Given the description of an element on the screen output the (x, y) to click on. 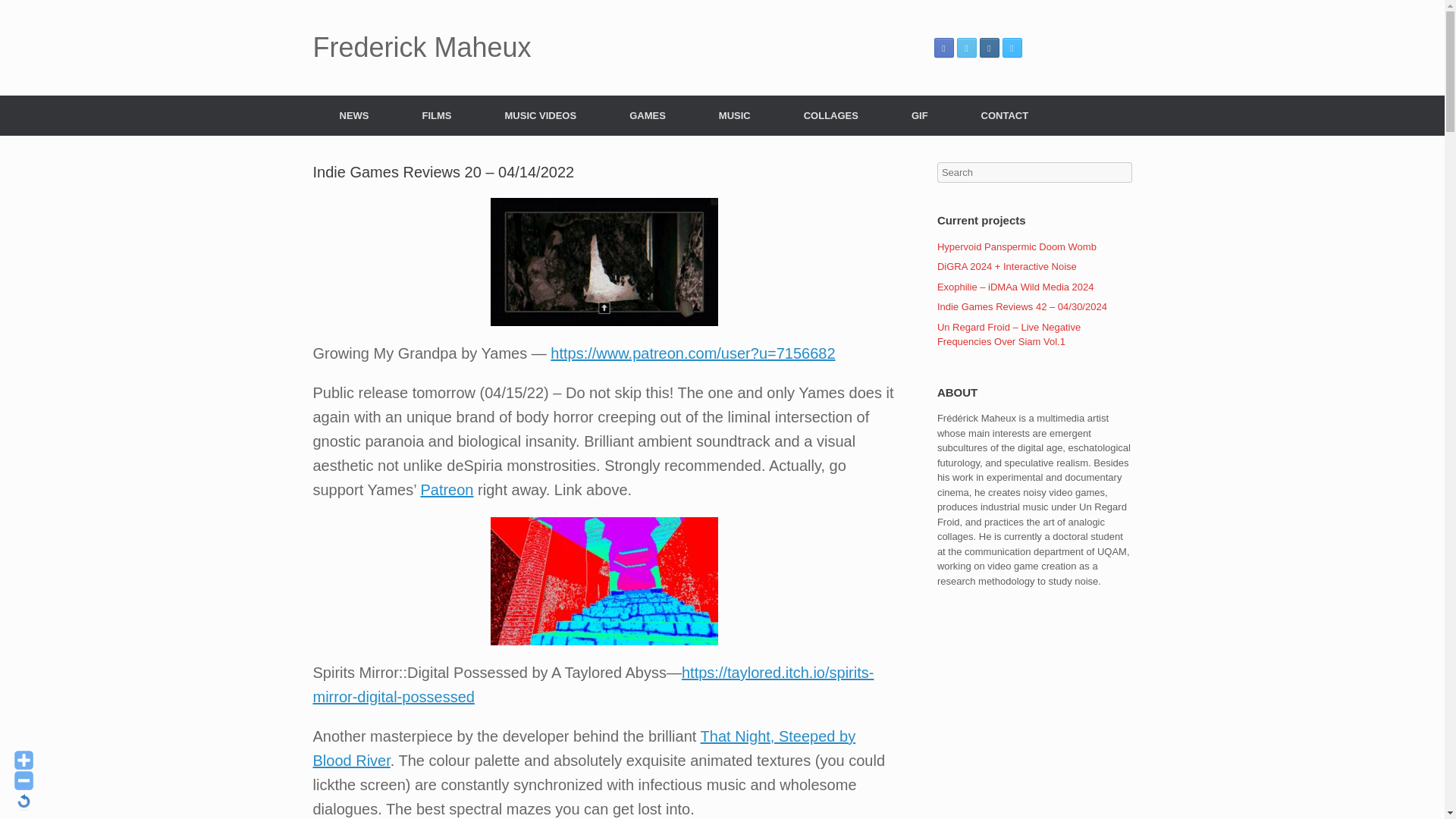
Frederick Maheux Facebook (943, 47)
GIF (920, 115)
MUSIC VIDEOS (539, 115)
CONTACT (1005, 115)
Increase font size (23, 760)
That Night, Steeped by Blood River (584, 748)
NEWS (353, 115)
FILMS (437, 115)
COLLAGES (831, 115)
Frederick Maheux (422, 47)
Frederick Maheux (422, 47)
Frederick Maheux Instagram (988, 47)
GAMES (647, 115)
Frederick Maheux Vimeo (1012, 47)
Patreon (446, 489)
